Given the description of an element on the screen output the (x, y) to click on. 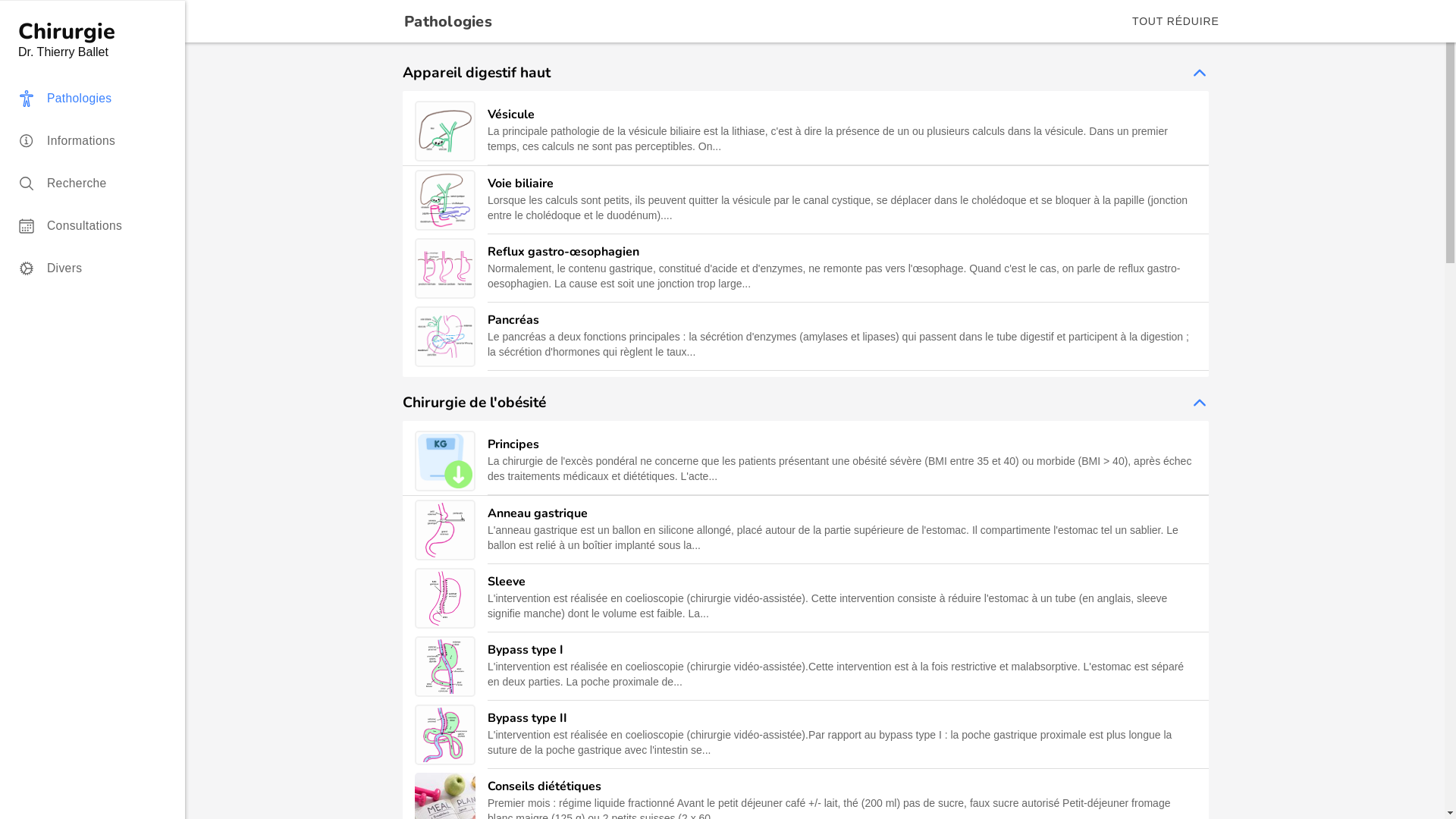
Chirurgie
Dr. Thierry Ballet Element type: text (101, 38)
